Given the description of an element on the screen output the (x, y) to click on. 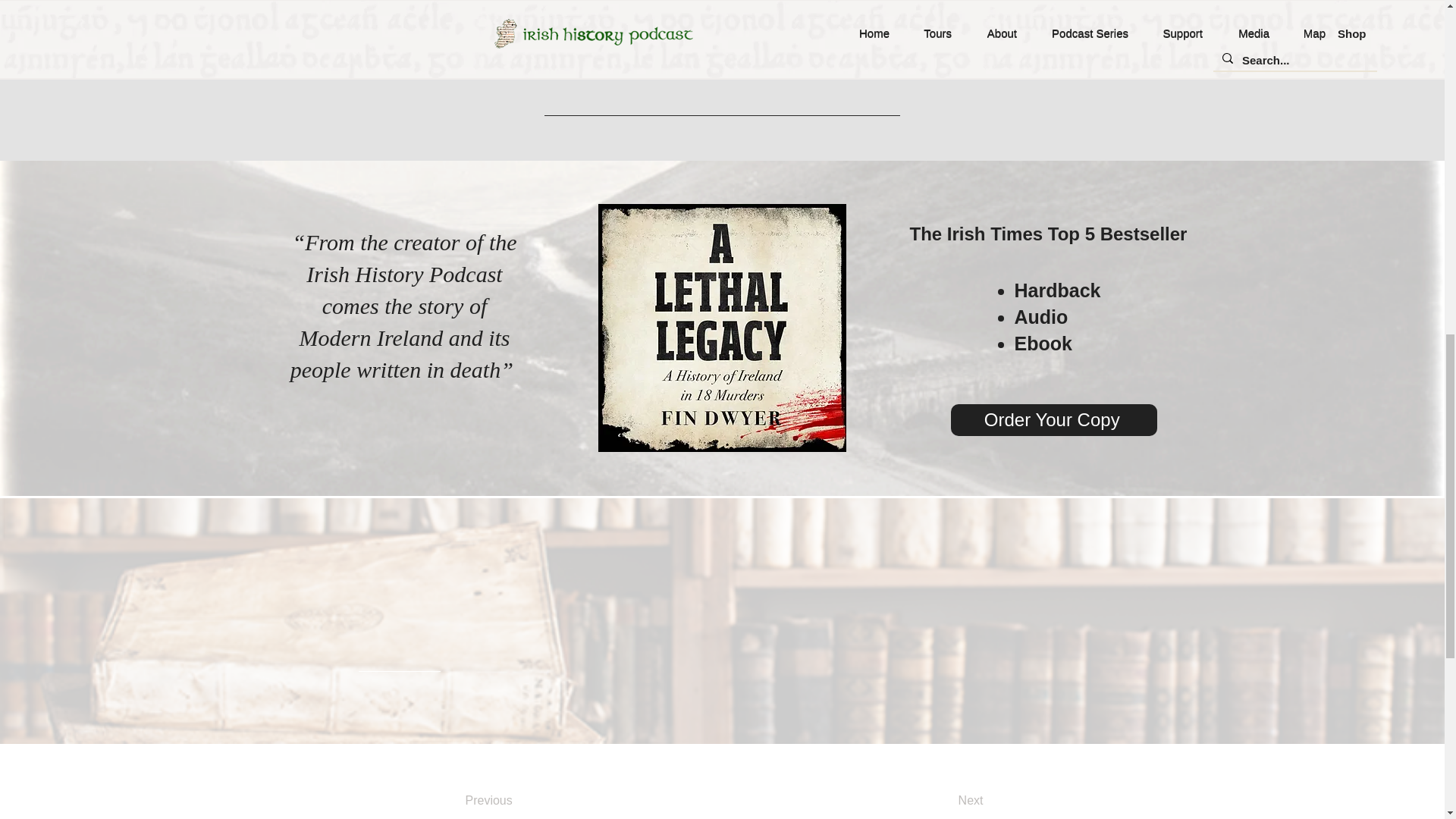
Order Your Copy (1053, 419)
Next (932, 800)
Previous (526, 800)
